Given the description of an element on the screen output the (x, y) to click on. 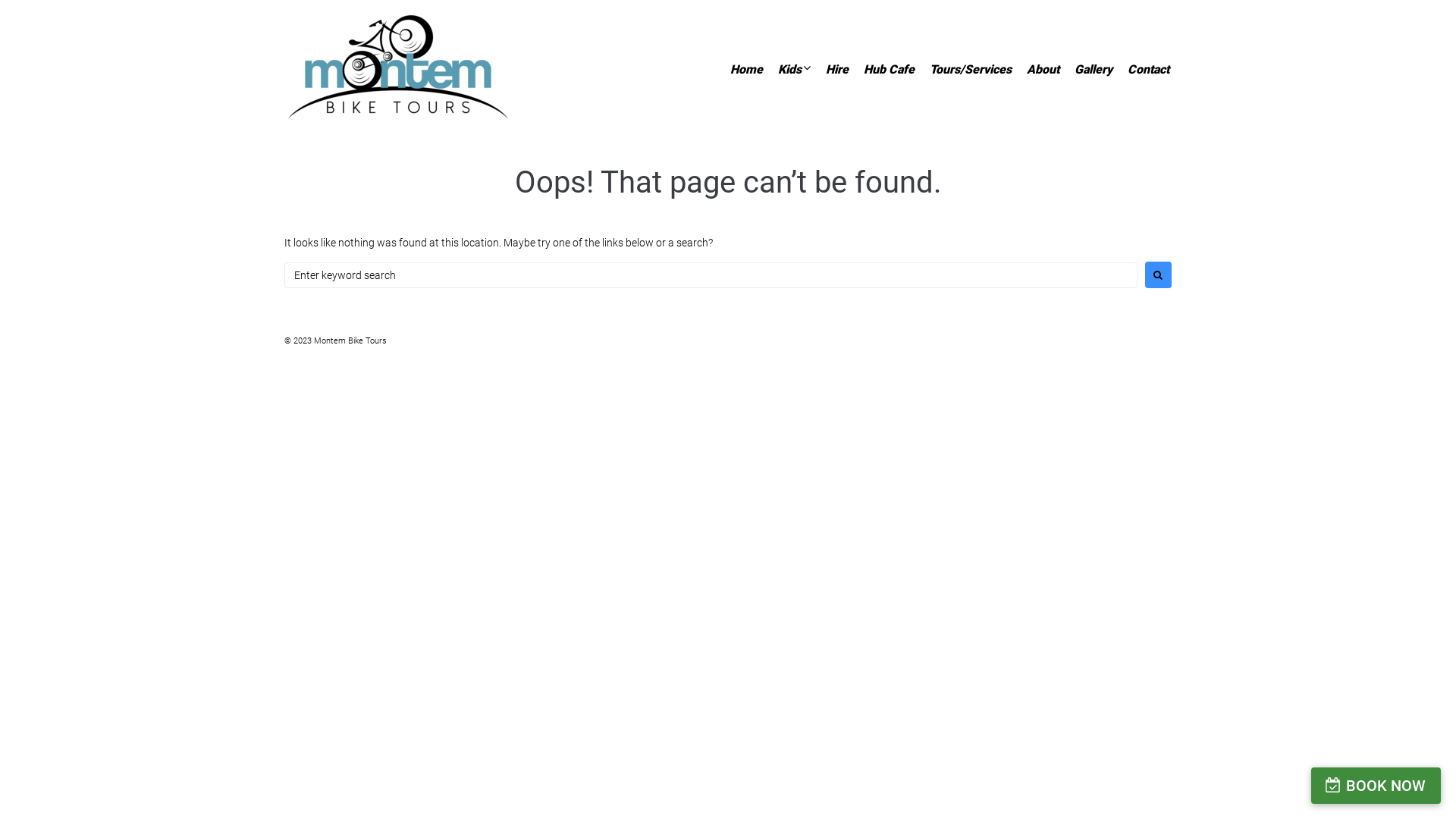
Hub Cafe Element type: text (888, 69)
Gallery Element type: text (1093, 69)
Hire Element type: text (836, 69)
About Element type: text (1042, 69)
Contact Element type: text (1148, 69)
Home Element type: text (746, 69)
Tours/Services Element type: text (970, 69)
Kids Element type: text (789, 69)
BOOK NOW Element type: text (1375, 785)
